Given the description of an element on the screen output the (x, y) to click on. 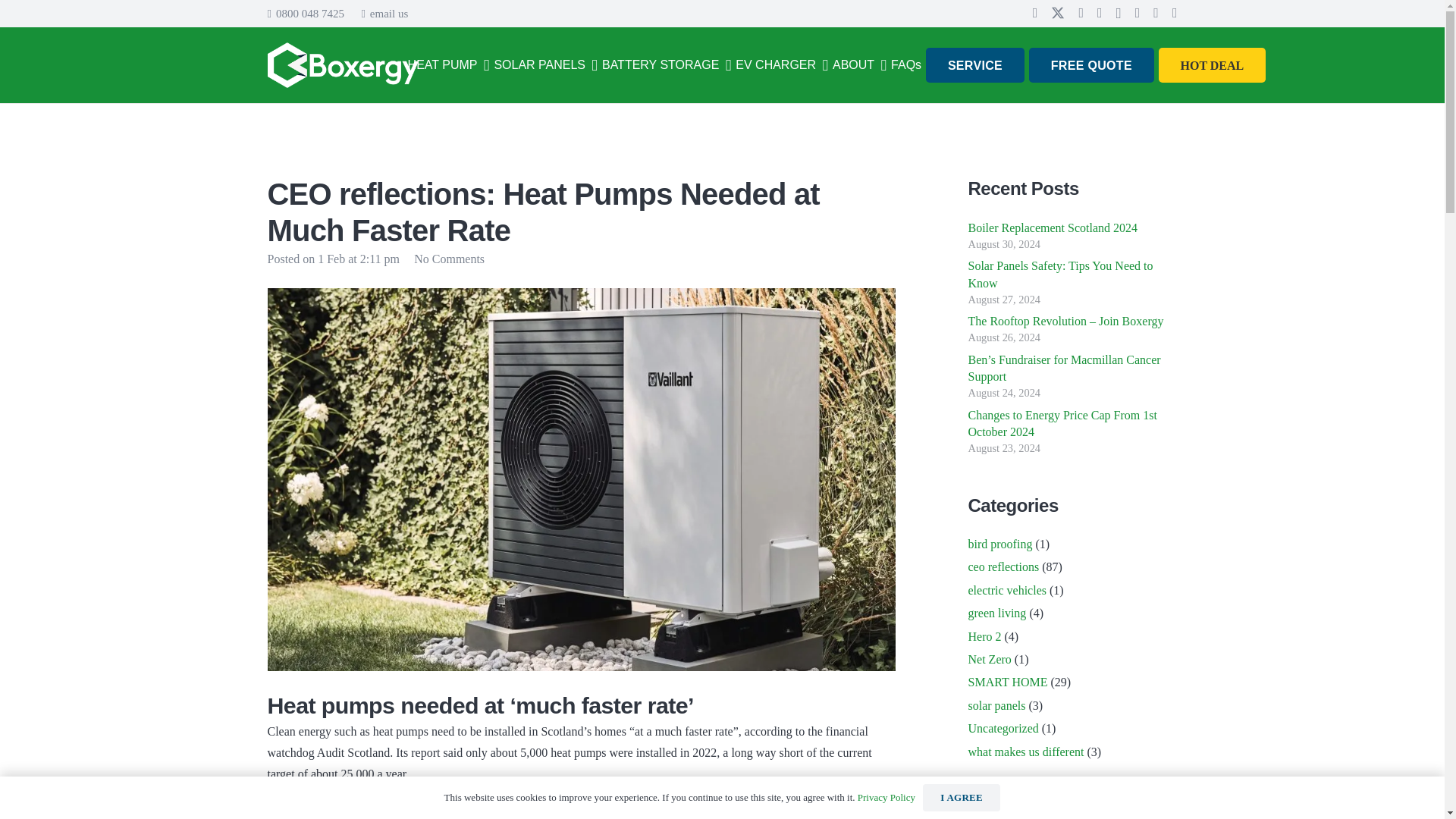
No Comments (448, 258)
BATTERY STORAGE (666, 64)
HEAT PUMP (449, 64)
SOLAR PANELS (545, 64)
YouTube (810, 376)
email us (384, 13)
Twitter (1057, 12)
LinkedIn (765, 376)
0800 048 7425 (304, 13)
